Given the description of an element on the screen output the (x, y) to click on. 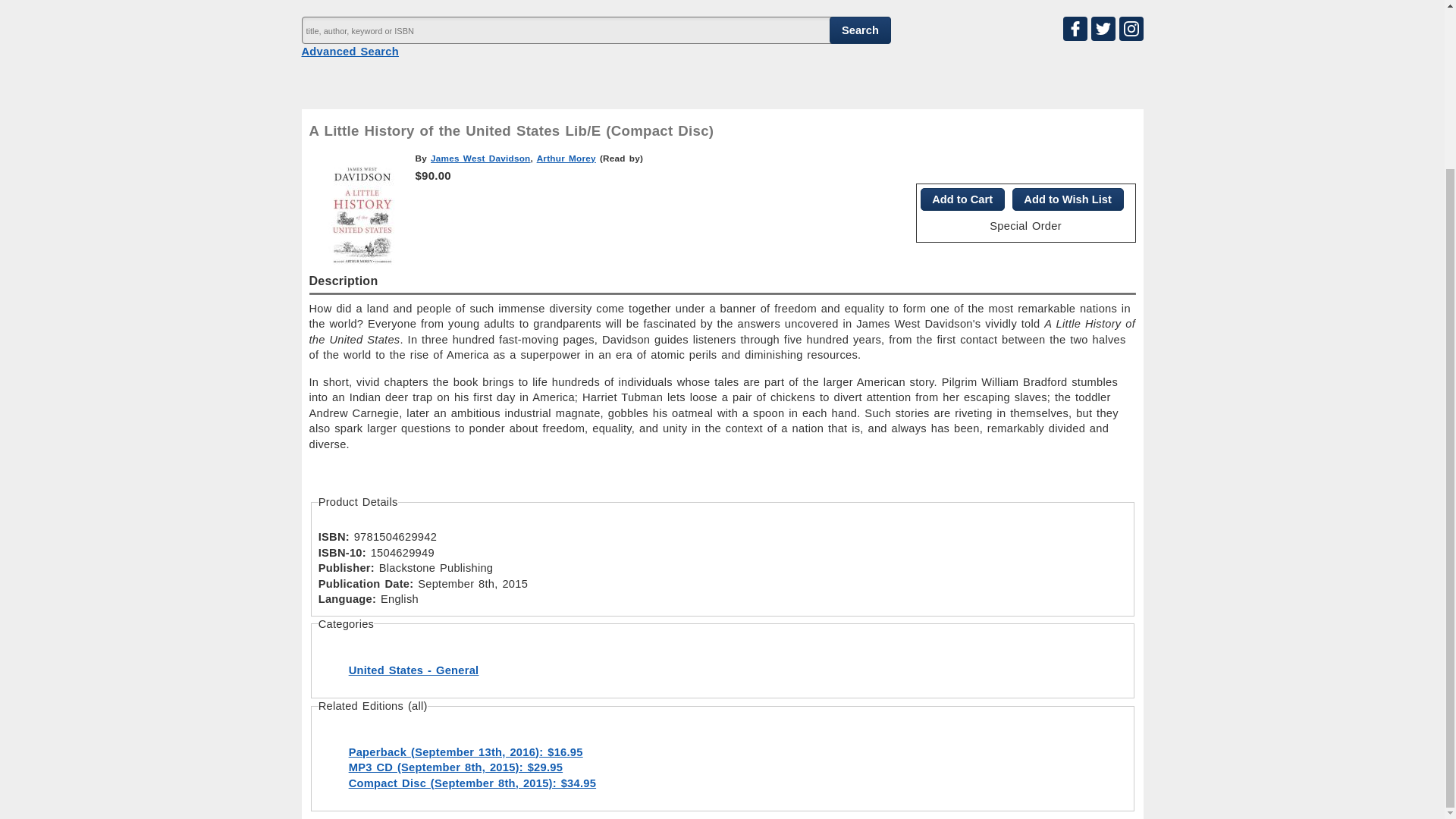
Arthur Morey (566, 157)
Add to Cart (962, 199)
Enter the terms you wish to search for. (595, 30)
Advanced Search (349, 51)
Add to Wish List (1067, 199)
Search (859, 30)
James West Davidson (480, 157)
Search (859, 30)
Add to Wish List (1067, 199)
Add to Cart (962, 199)
United States - General (414, 670)
